Given the description of an element on the screen output the (x, y) to click on. 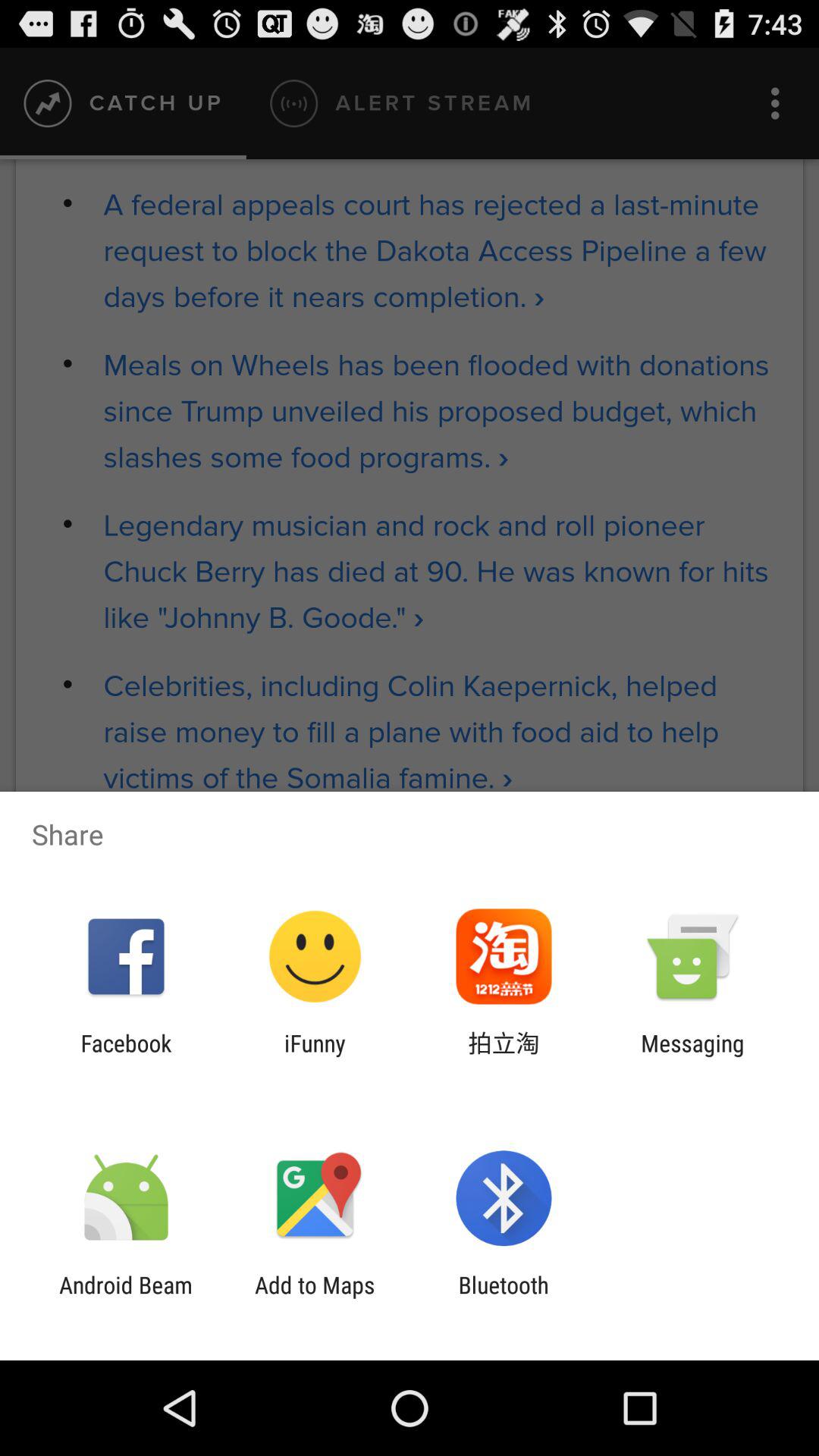
open android beam icon (125, 1298)
